Given the description of an element on the screen output the (x, y) to click on. 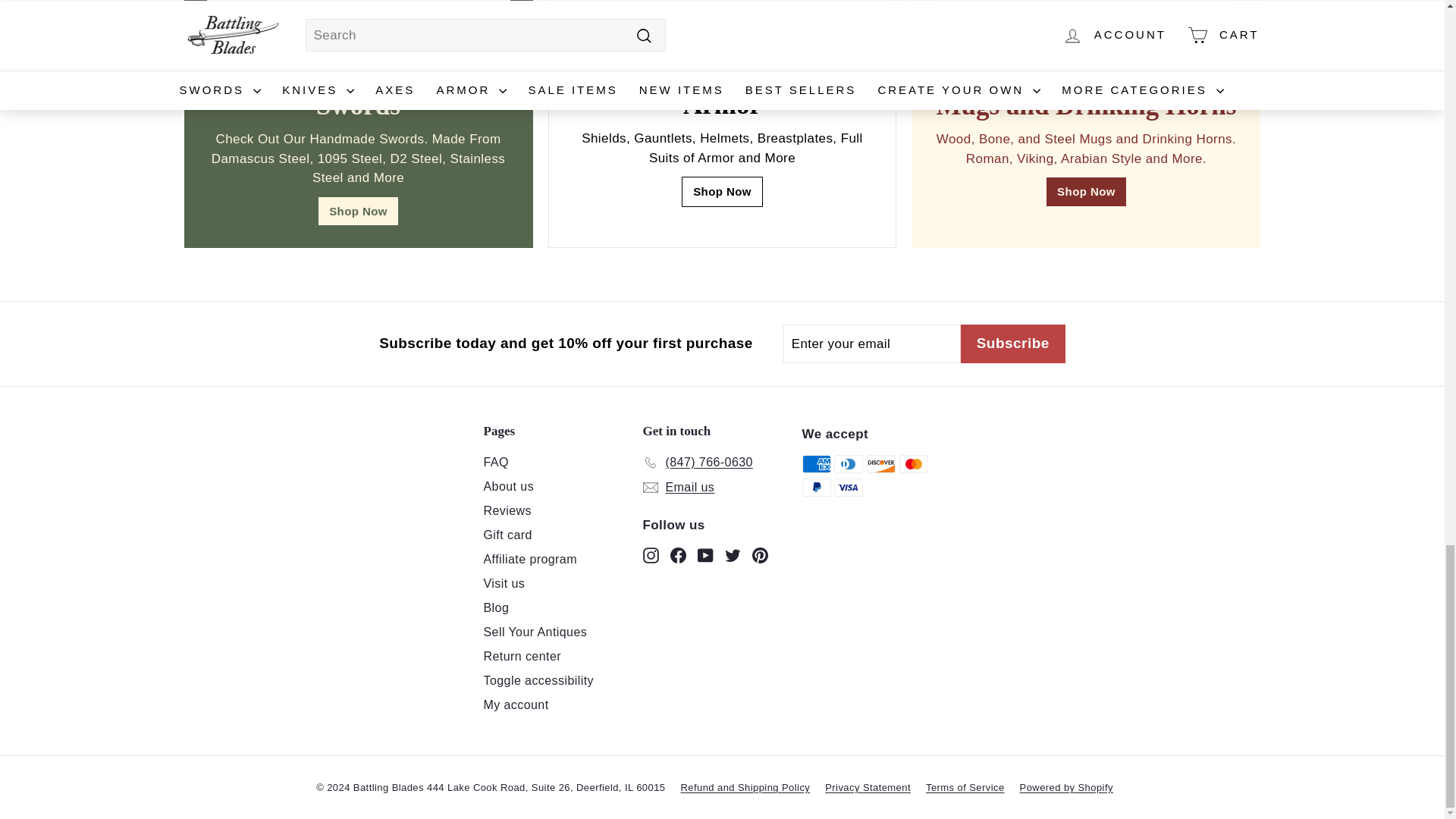
American Express (816, 464)
twitter (733, 555)
Diners Club (848, 464)
instagram (651, 555)
